Given the description of an element on the screen output the (x, y) to click on. 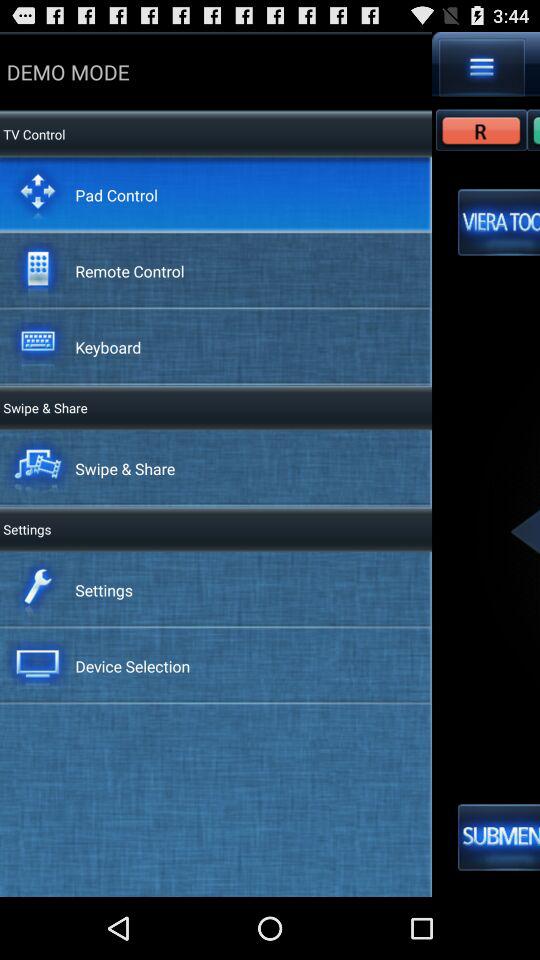
turn off the item next to the remote control icon (499, 222)
